Given the description of an element on the screen output the (x, y) to click on. 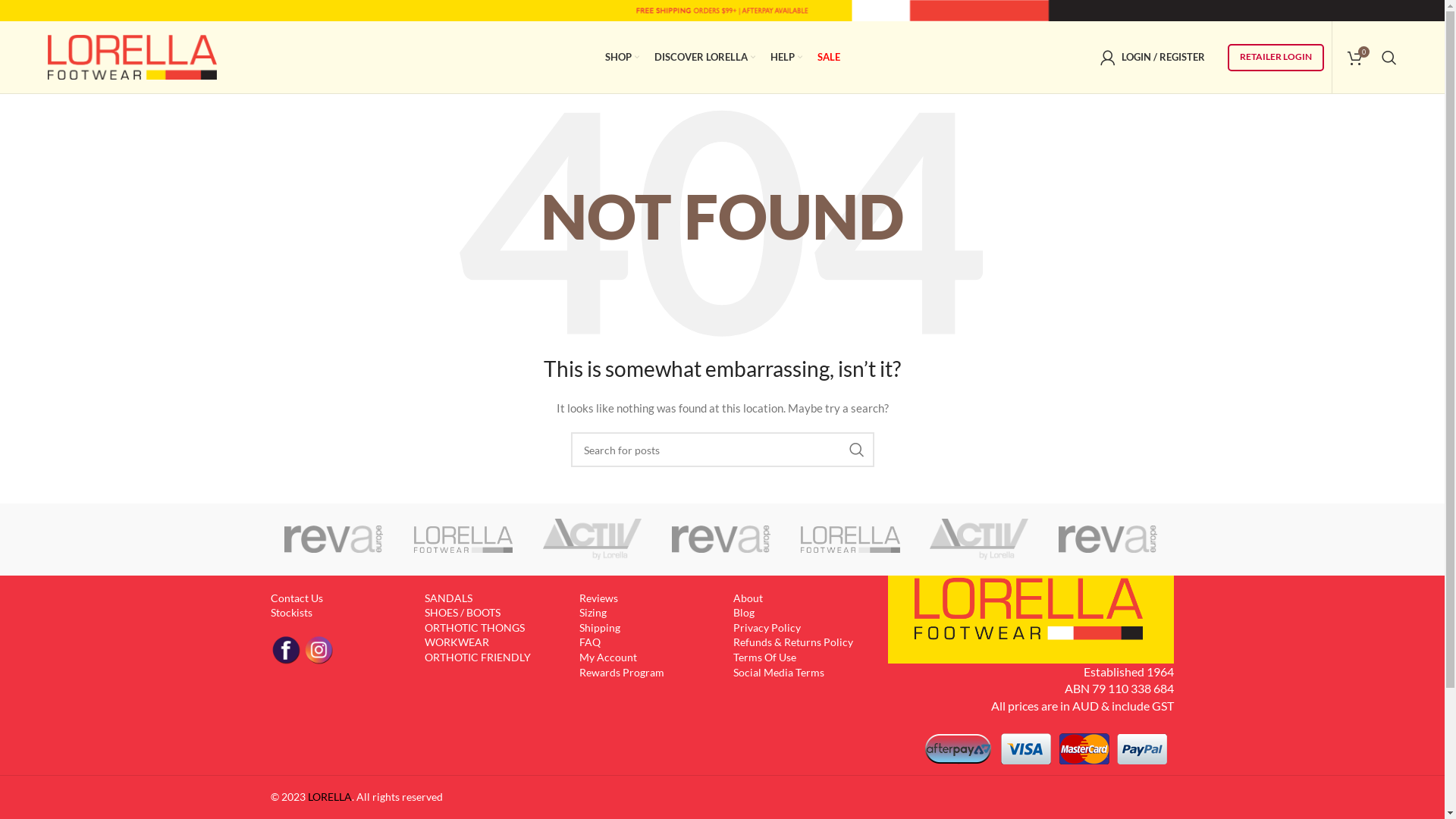
Reva Europe Element type: hover (1107, 538)
HELP Element type: text (786, 57)
Reva Europe Element type: hover (333, 538)
LORELLA Element type: text (329, 796)
Social Media Terms Element type: text (778, 671)
Lorella Element type: hover (463, 539)
ORTHOTIC THONGS Element type: text (474, 627)
DISCOVER LORELLA Element type: text (703, 57)
Terms Of Use Element type: text (764, 656)
0 Element type: text (1354, 57)
Contact Us Element type: text (295, 597)
Facebook Element type: hover (284, 649)
LOGIN / REGISTER Element type: text (1152, 57)
Refunds & Returns Policy Element type: text (793, 641)
Reva Europe Element type: hover (720, 538)
Reva Europe Element type: hover (720, 538)
Activ by Lorella Element type: hover (591, 539)
Activ by Lorella Element type: hover (978, 539)
Blog Element type: text (743, 611)
Rewards Program Element type: text (621, 671)
Search Element type: hover (1389, 57)
Instagram Element type: hover (318, 649)
SHOES / BOOTS Element type: text (462, 611)
Reva Europe Element type: hover (333, 538)
SALE Element type: text (828, 57)
SEARCH Element type: text (855, 449)
WORKWEAR Element type: text (456, 641)
Sizing Element type: text (592, 611)
SHOP Element type: text (622, 57)
Activ by Lorella Element type: hover (978, 539)
Search for posts Element type: hover (721, 449)
Privacy Policy Element type: text (766, 627)
Reva Europe Element type: hover (1107, 538)
Shipping Element type: text (599, 627)
My Account Element type: text (608, 656)
Lorella Element type: hover (1236, 539)
Reviews Element type: text (598, 597)
Activ by Lorella Element type: hover (591, 539)
About Element type: text (747, 597)
SANDALS Element type: text (448, 597)
FAQ Element type: text (589, 641)
Log in Element type: text (1079, 298)
Stockists Element type: text (290, 611)
Lorella Element type: hover (849, 539)
Lorella Element type: hover (462, 539)
ORTHOTIC FRIENDLY Element type: text (477, 656)
Lorella Element type: hover (849, 539)
RETAILER LOGIN Element type: text (1275, 57)
